Given the description of an element on the screen output the (x, y) to click on. 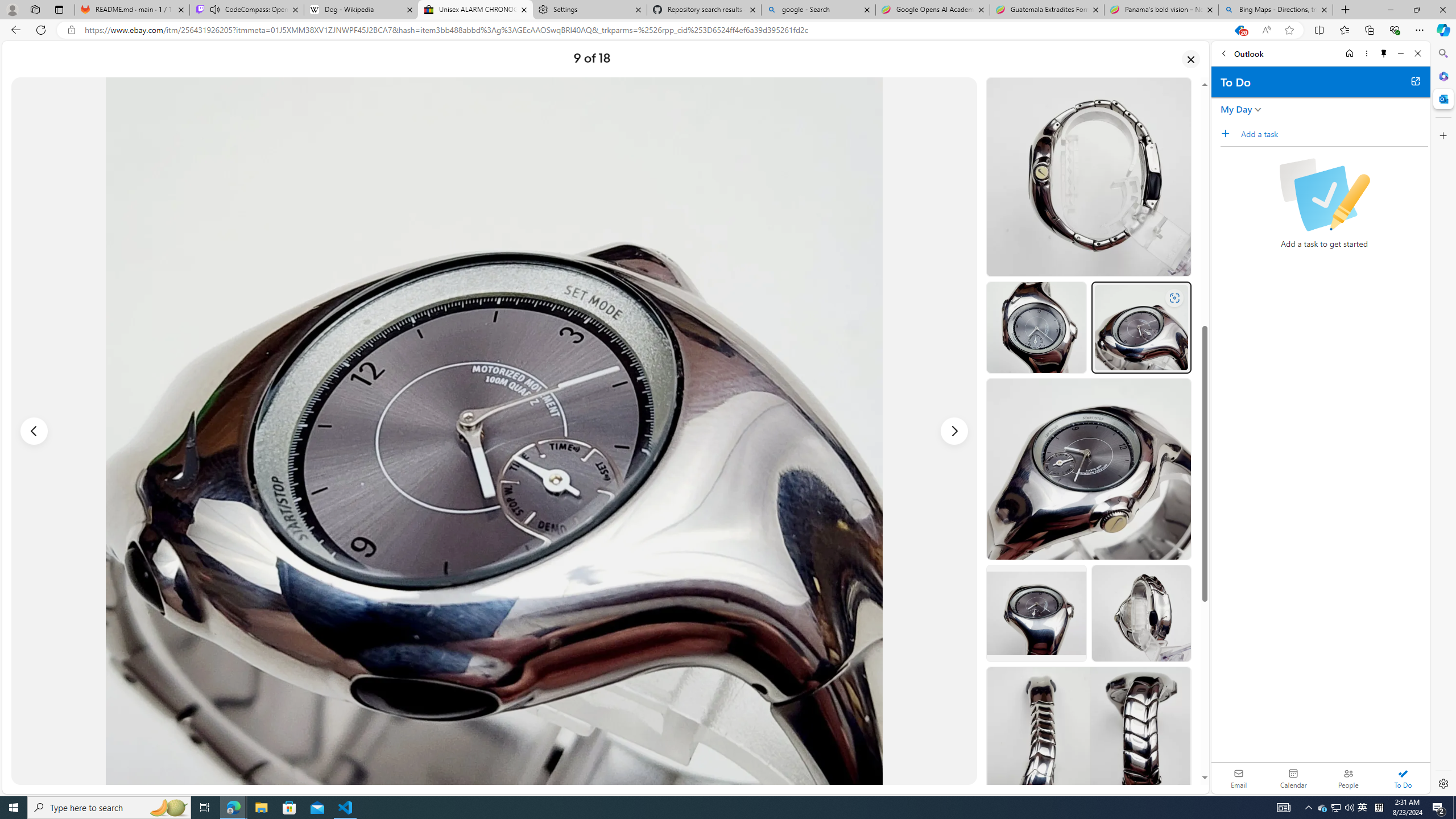
Unpin side pane (1383, 53)
Checkbox with a pencil (1324, 194)
Close image gallery dialog (1190, 58)
